Given the description of an element on the screen output the (x, y) to click on. 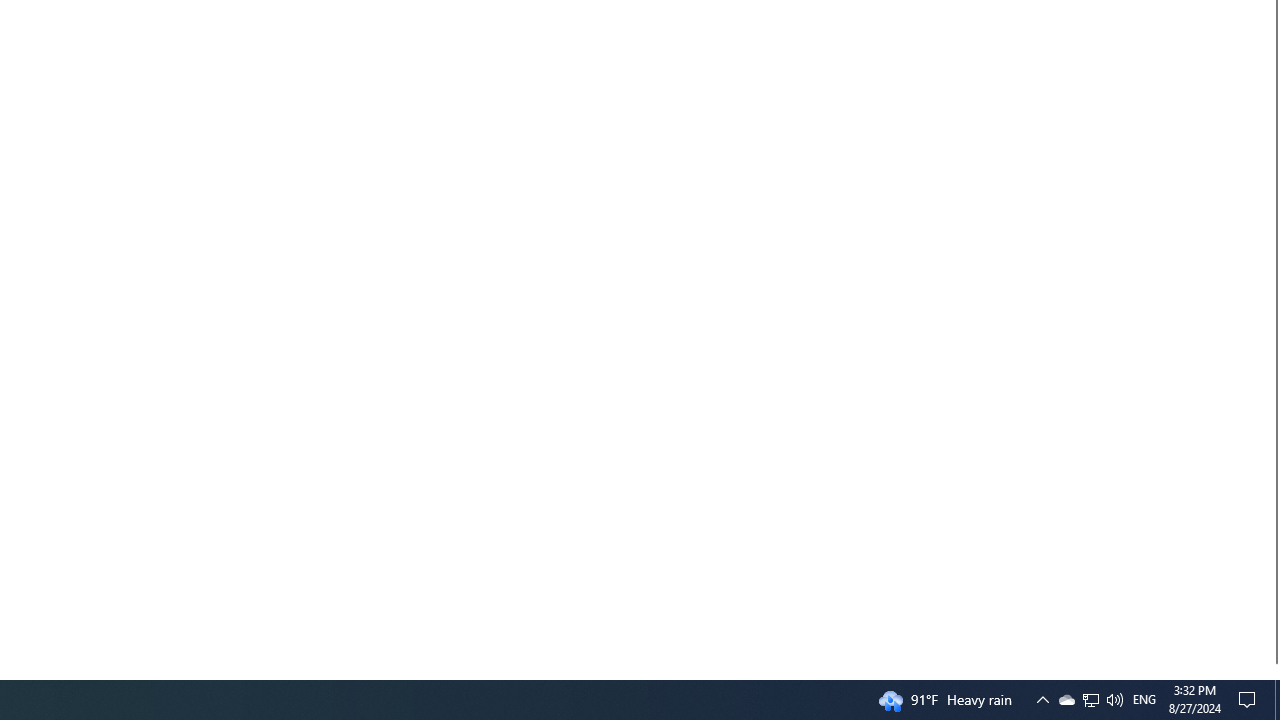
Action Center, No new notifications (1250, 699)
Tray Input Indicator - English (United States) (1066, 699)
User Promoted Notification Area (1091, 699)
Notification Chevron (1144, 699)
Q2790: 100% (1090, 699)
Vertical Small Increase (1042, 699)
Show desktop (1114, 699)
